Given the description of an element on the screen output the (x, y) to click on. 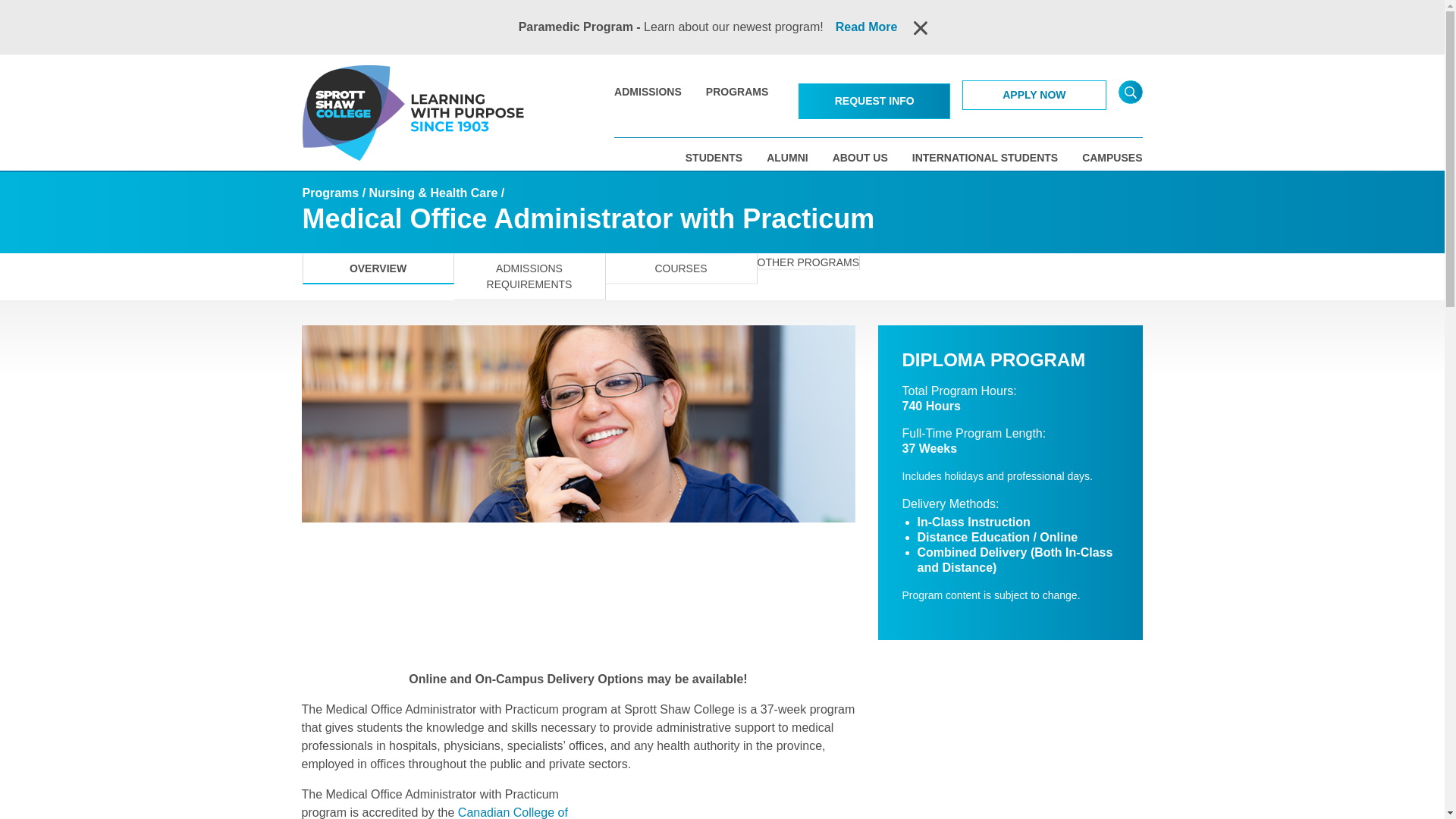
REQUEST INFO (873, 100)
CAMPUSES (1111, 157)
APPLY NOW (1033, 94)
site root (355, 112)
ABOUT US (860, 157)
INTERNATIONAL STUDENTS (985, 157)
Read More (866, 26)
PROGRAMS (737, 91)
ALUMNI (787, 157)
STUDENTS (713, 157)
Search Sprott Shaw (1129, 92)
Programs (329, 192)
ADMISSIONS (647, 91)
